Given the description of an element on the screen output the (x, y) to click on. 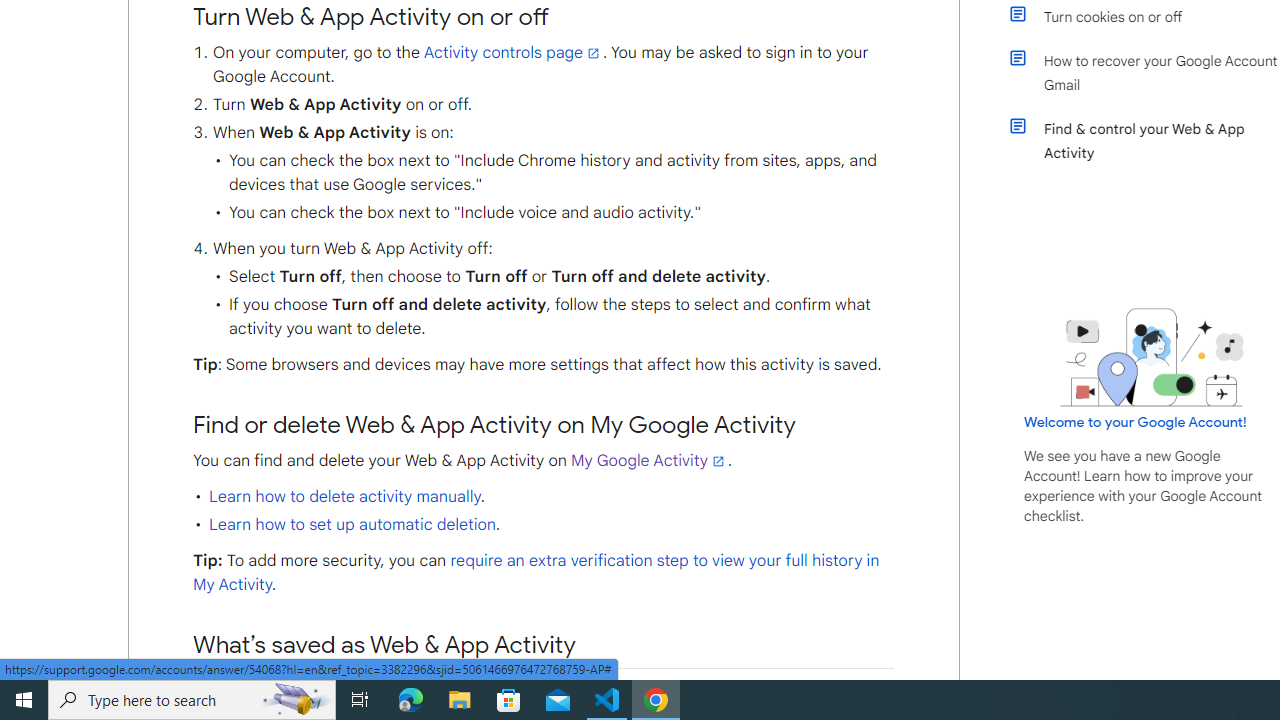
 Activity controls page (511, 53)
Learning Center home page image (1152, 357)
Learn how to delete activity manually (344, 496)
Learn how to set up automatic deletion (352, 524)
My Google Activity (649, 460)
Welcome to your Google Account! (1135, 422)
